Given the description of an element on the screen output the (x, y) to click on. 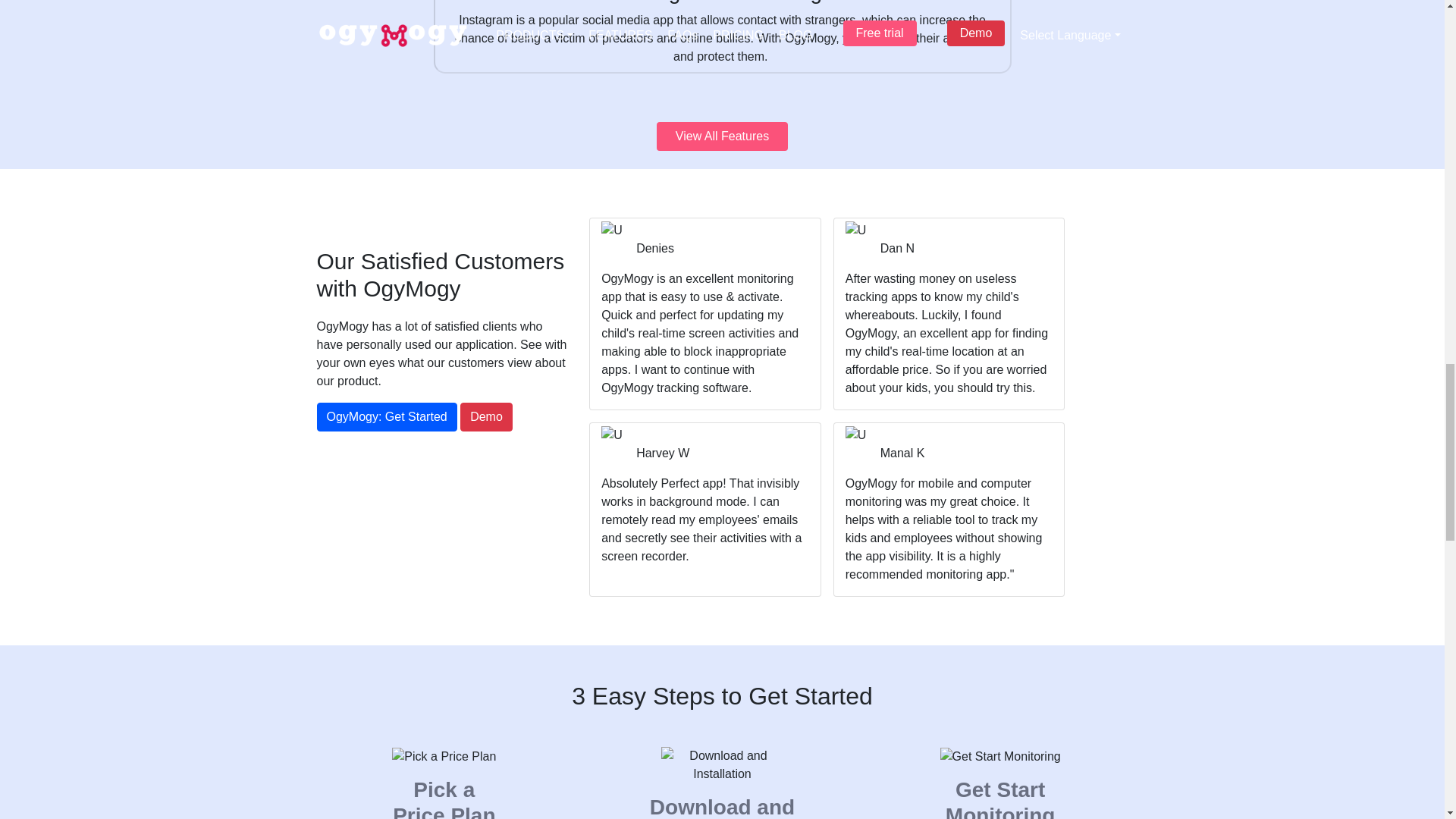
Demo (486, 416)
View All Features (721, 136)
OgyMogy: Get Started (387, 416)
